Given the description of an element on the screen output the (x, y) to click on. 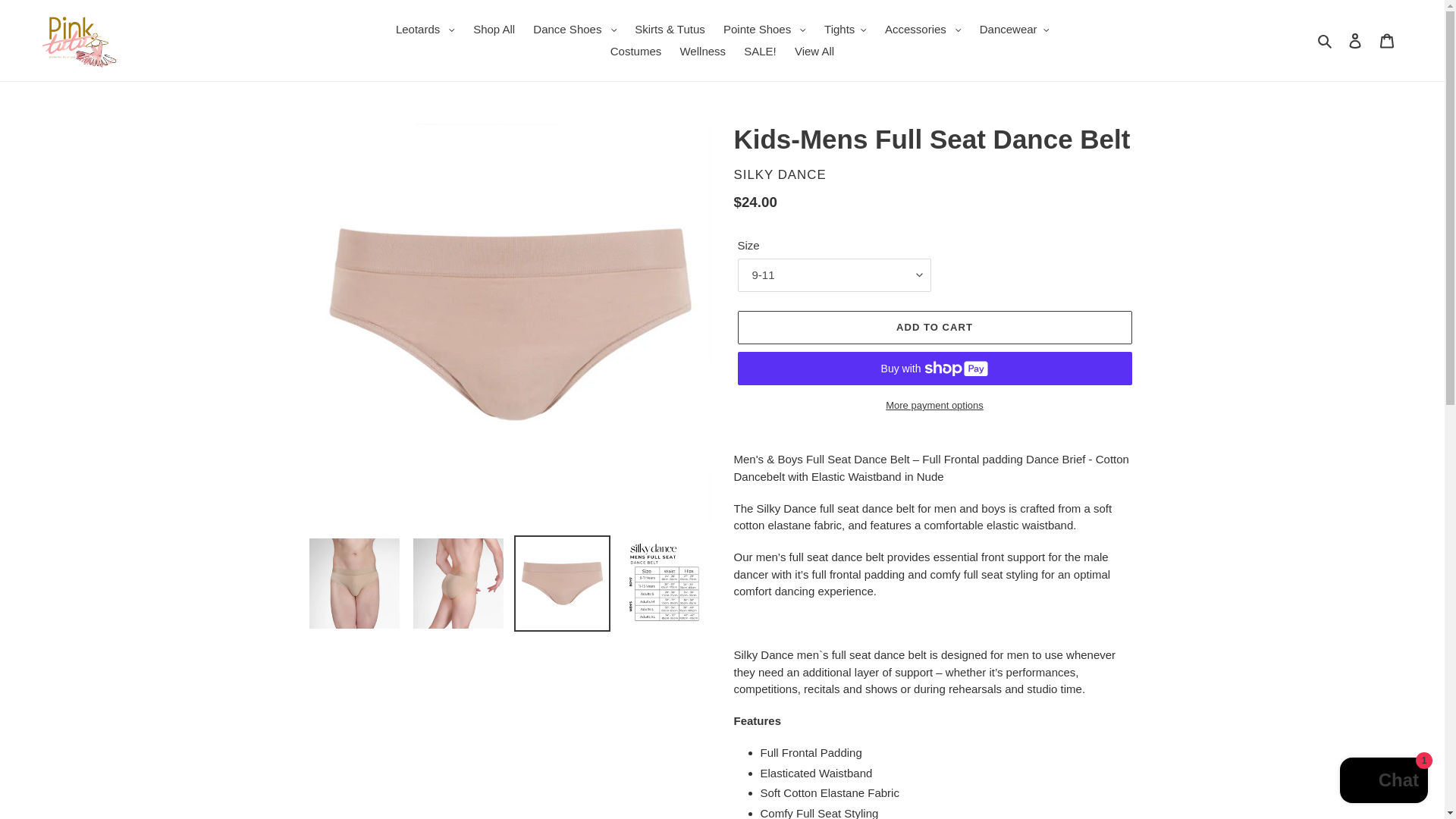
Shop All (493, 29)
Dance Shoes (574, 29)
Leotards (425, 29)
Shopify online store chat (1383, 781)
